Given the description of an element on the screen output the (x, y) to click on. 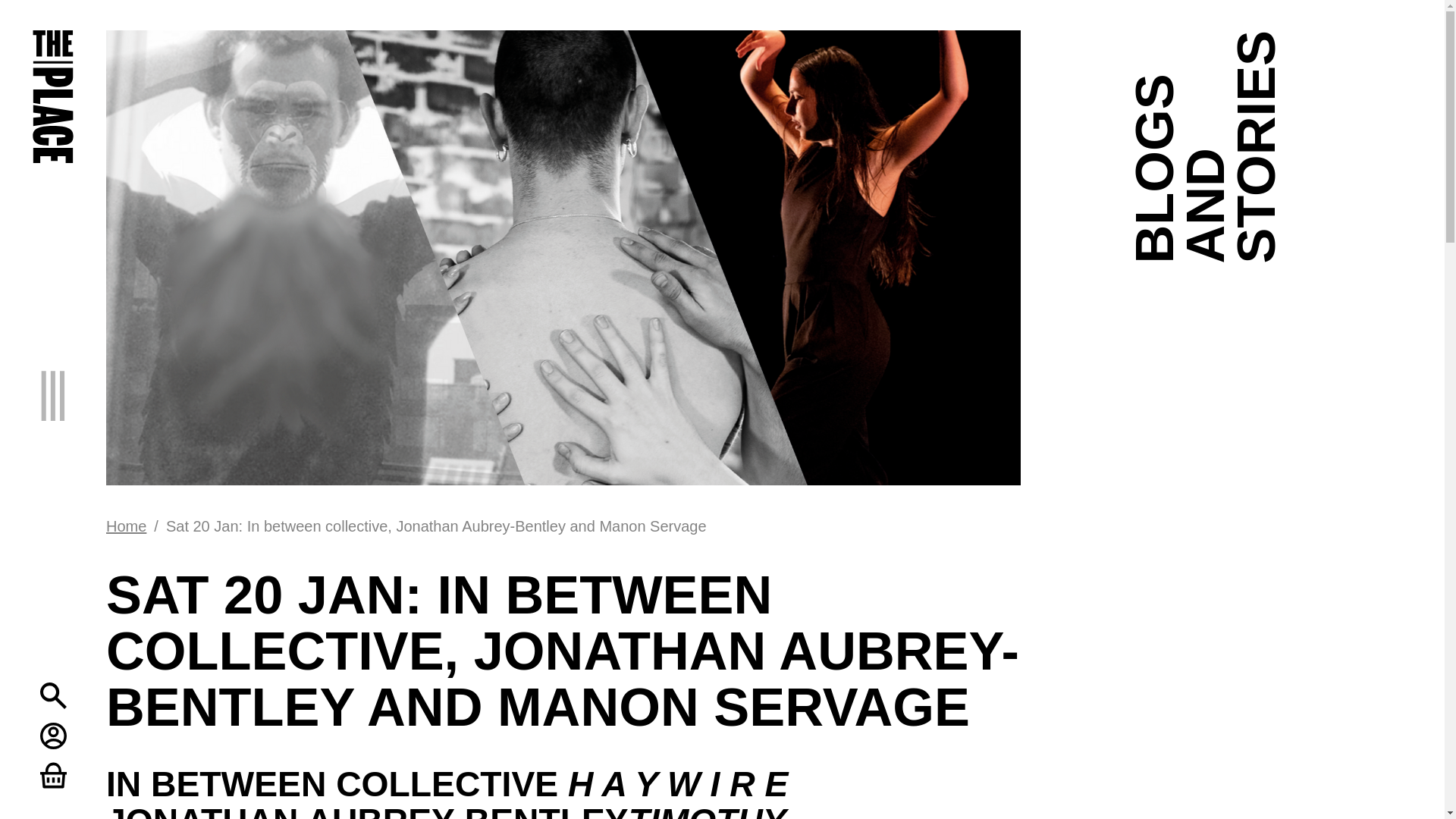
My Account (53, 735)
Menu (66, 382)
Search (53, 695)
Basket (53, 775)
Home (126, 525)
